Given the description of an element on the screen output the (x, y) to click on. 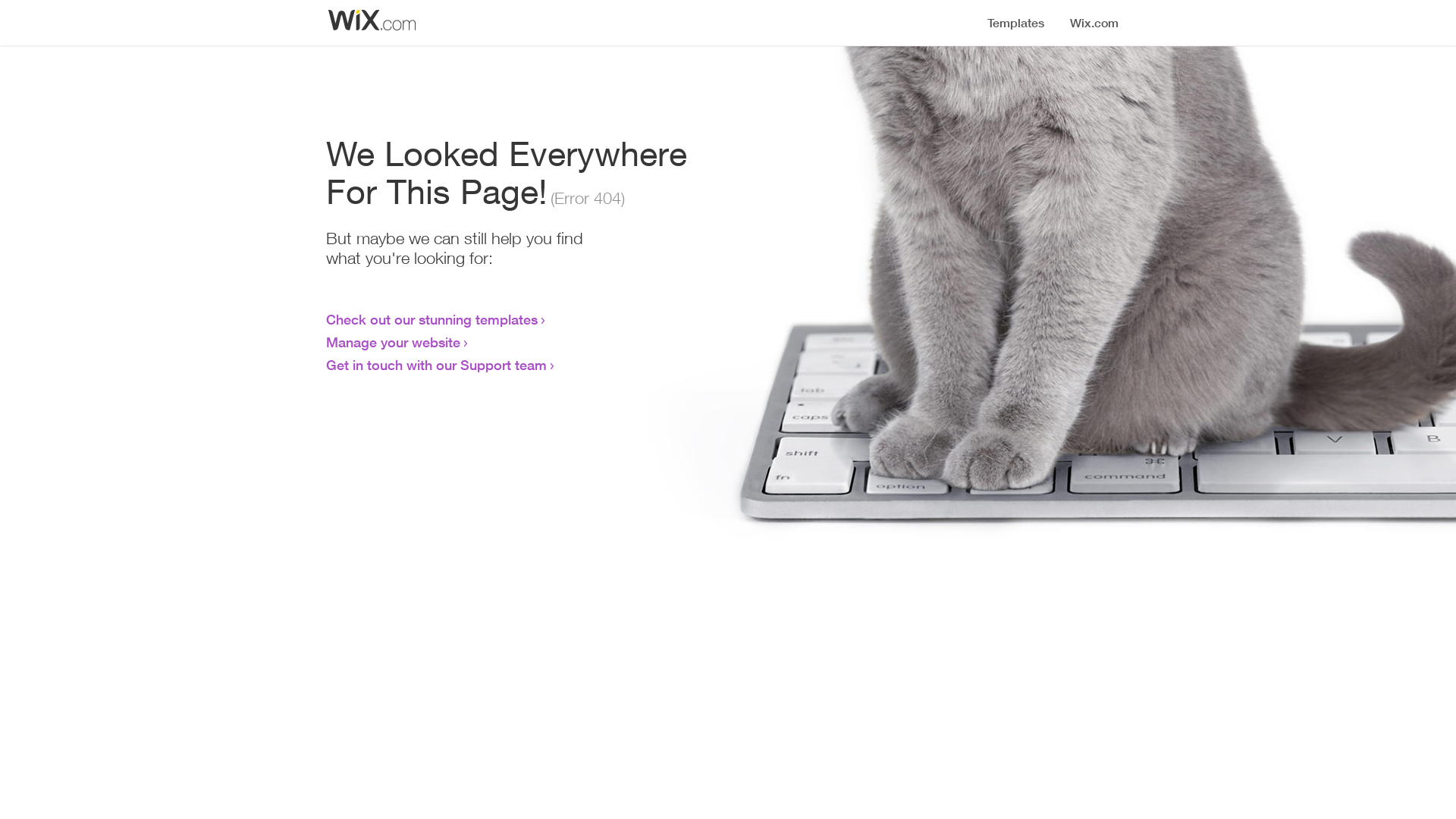
Check out our stunning templates Element type: text (431, 318)
Get in touch with our Support team Element type: text (436, 364)
Manage your website Element type: text (393, 341)
